Given the description of an element on the screen output the (x, y) to click on. 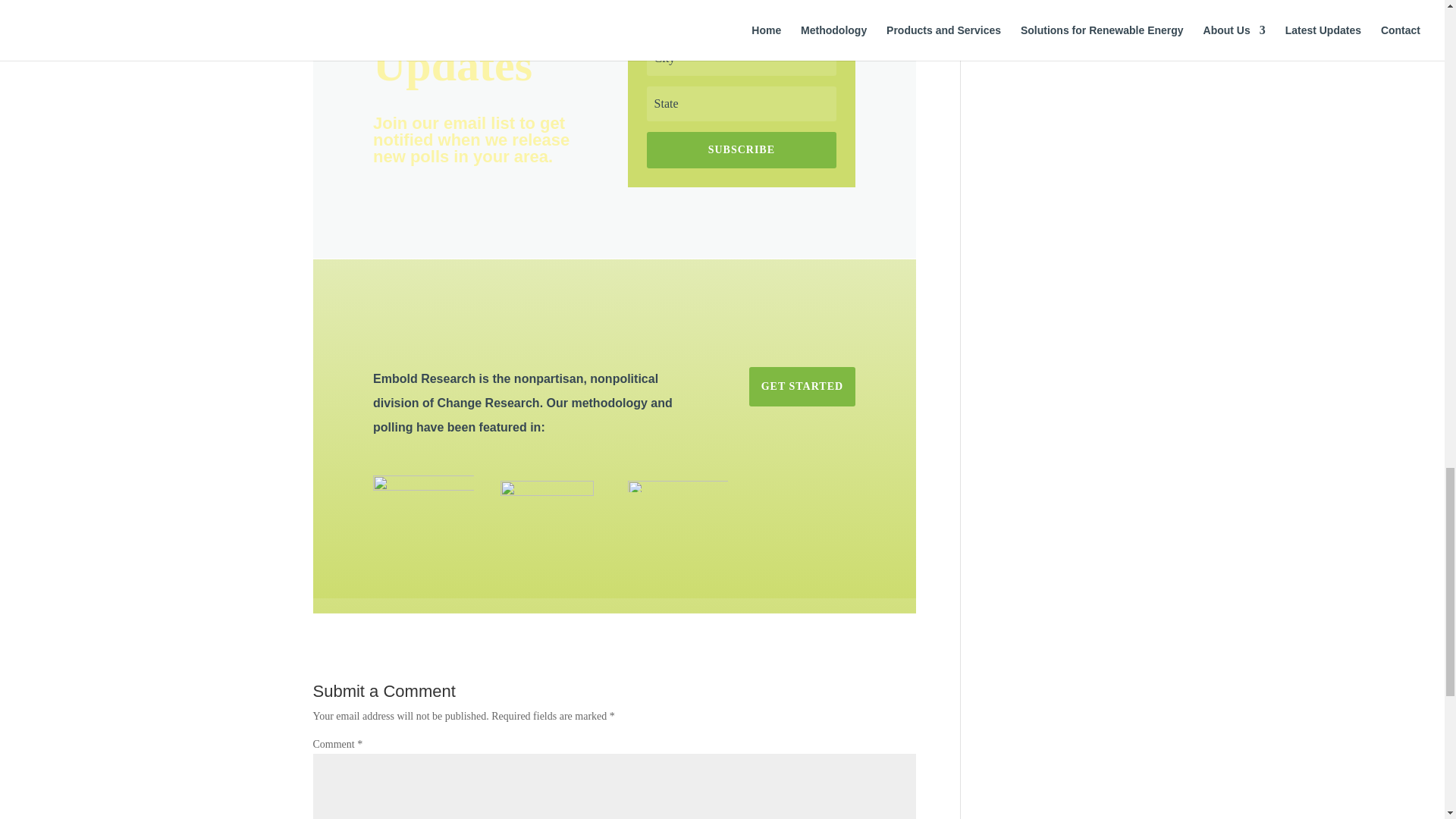
GET STARTED (802, 386)
fivethirtyeight (678, 485)
axios (547, 492)
SUBSCRIBE (741, 149)
msnbc (423, 486)
